Given the description of an element on the screen output the (x, y) to click on. 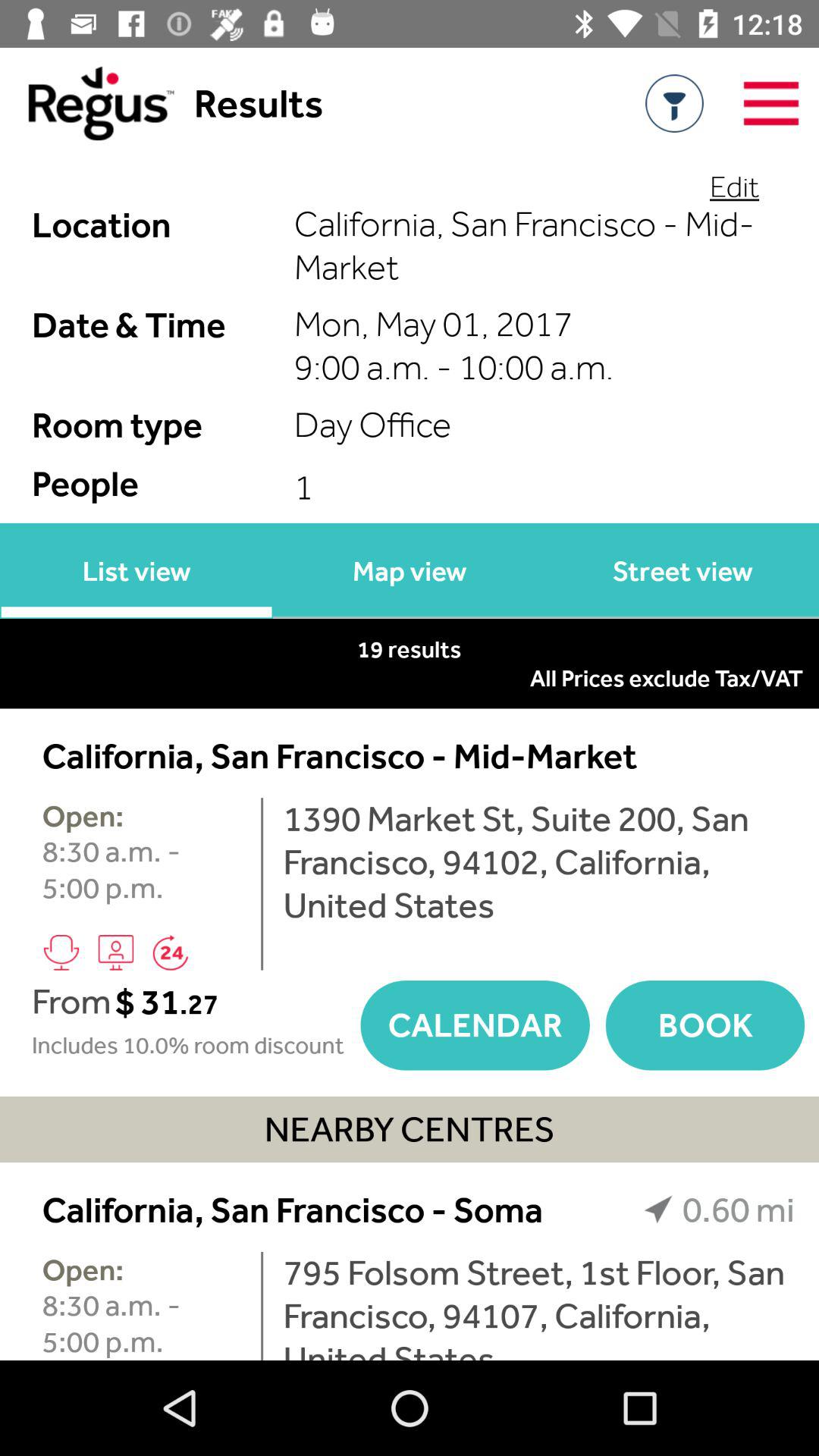
tap item above $ 31.27 (170, 952)
